Given the description of an element on the screen output the (x, y) to click on. 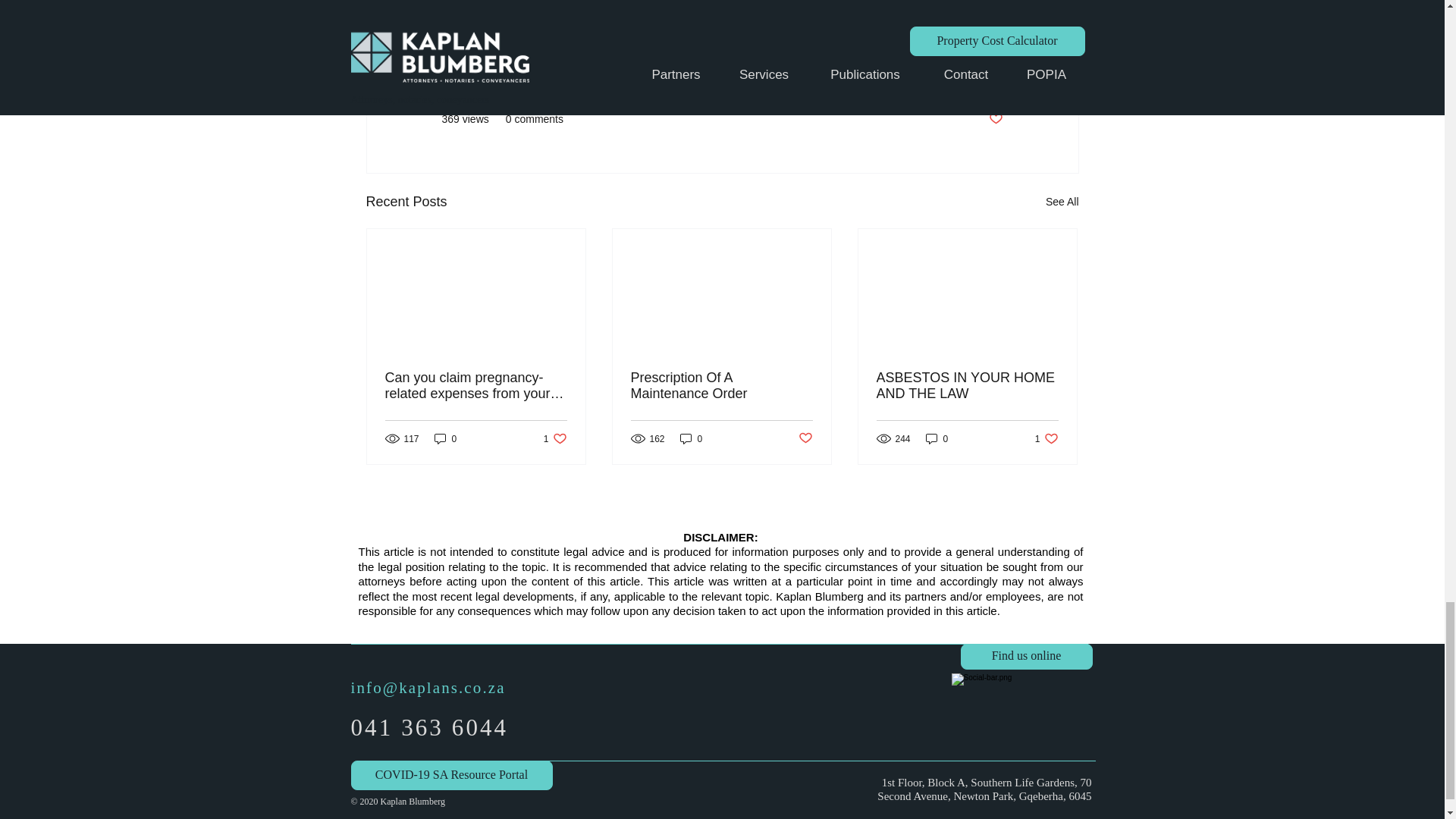
0 (445, 438)
ASBESTOS IN YOUR HOME AND THE LAW (967, 386)
Prescription Of A Maintenance Order (721, 386)
0 (691, 438)
See All (1061, 201)
0 (937, 438)
Post not marked as liked (995, 119)
Post not marked as liked (804, 438)
Let's Talk (981, 73)
